Given the description of an element on the screen output the (x, y) to click on. 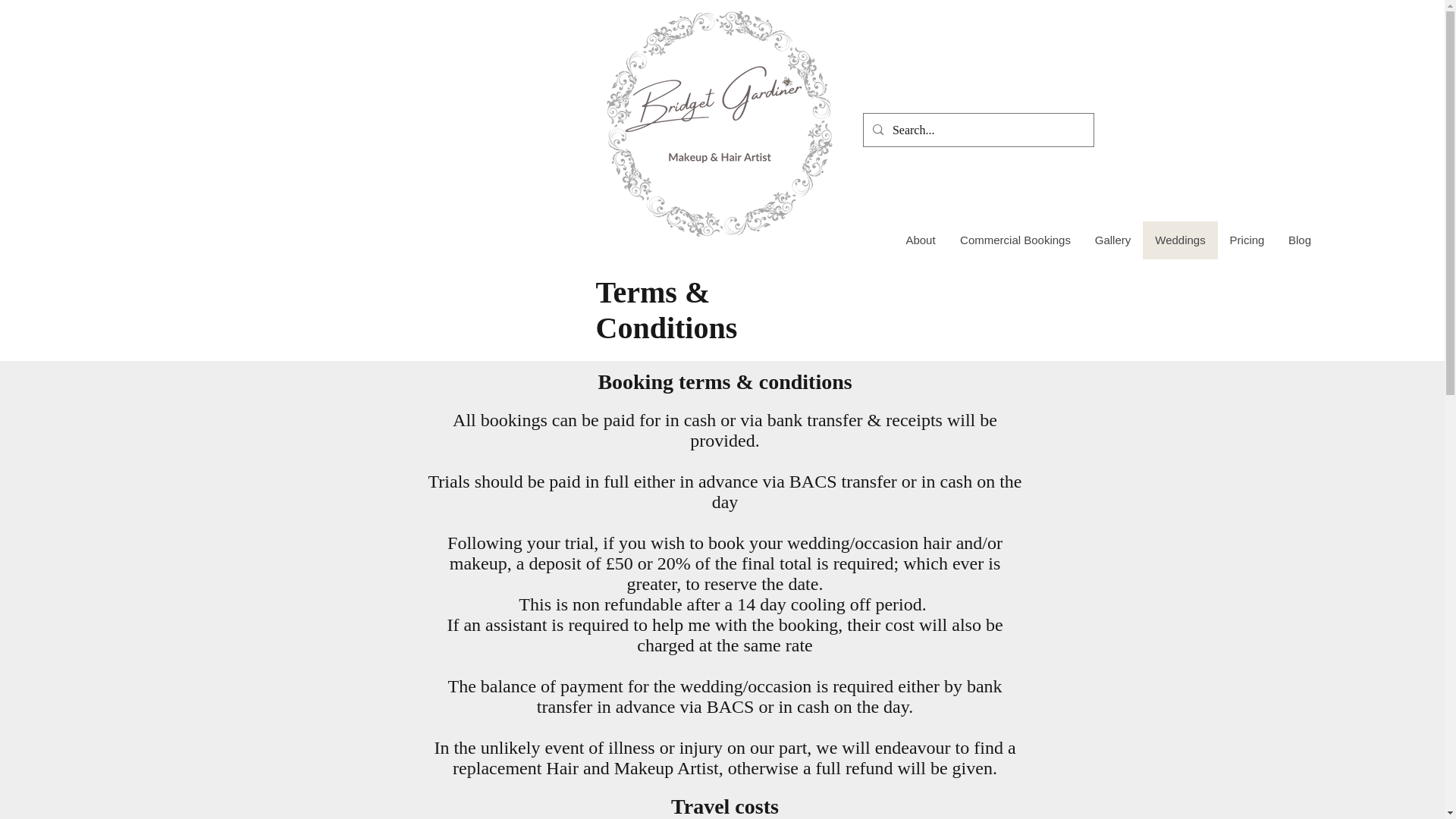
Weddings (1179, 240)
Pricing (1246, 240)
About (920, 240)
Commercial Bookings (1015, 240)
Gallery (1112, 240)
Blog (1298, 240)
